Given the description of an element on the screen output the (x, y) to click on. 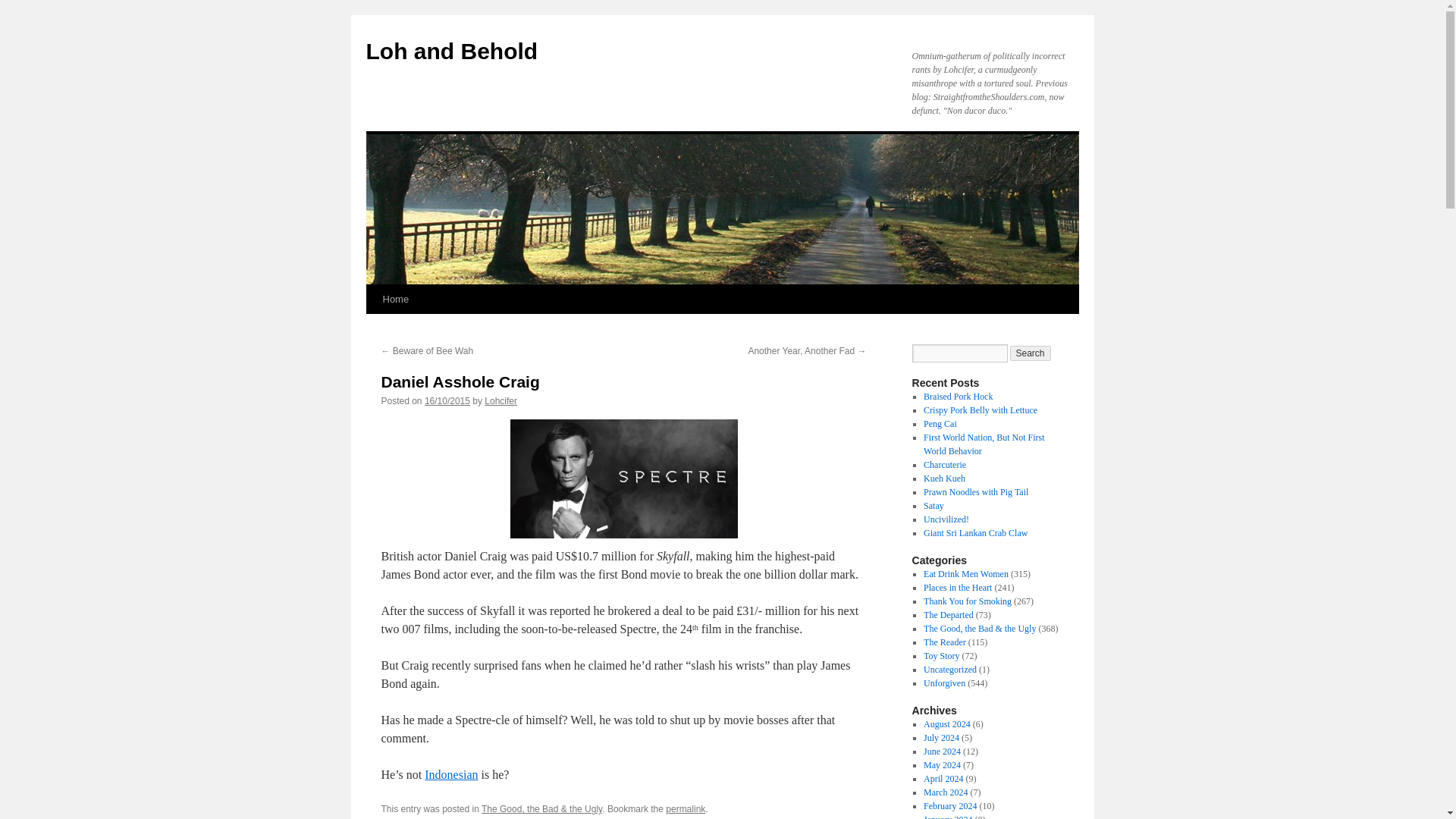
Crispy Pork Belly with Lettuce (979, 409)
June 2024 (941, 751)
Places in the Heart (957, 587)
March 2024 (945, 792)
Uncivilized! (946, 519)
Permalink to Daniel Asshole Craig (684, 808)
Search (1030, 353)
August 2024 (947, 724)
Toy Story (941, 655)
July 2024 (941, 737)
